Given the description of an element on the screen output the (x, y) to click on. 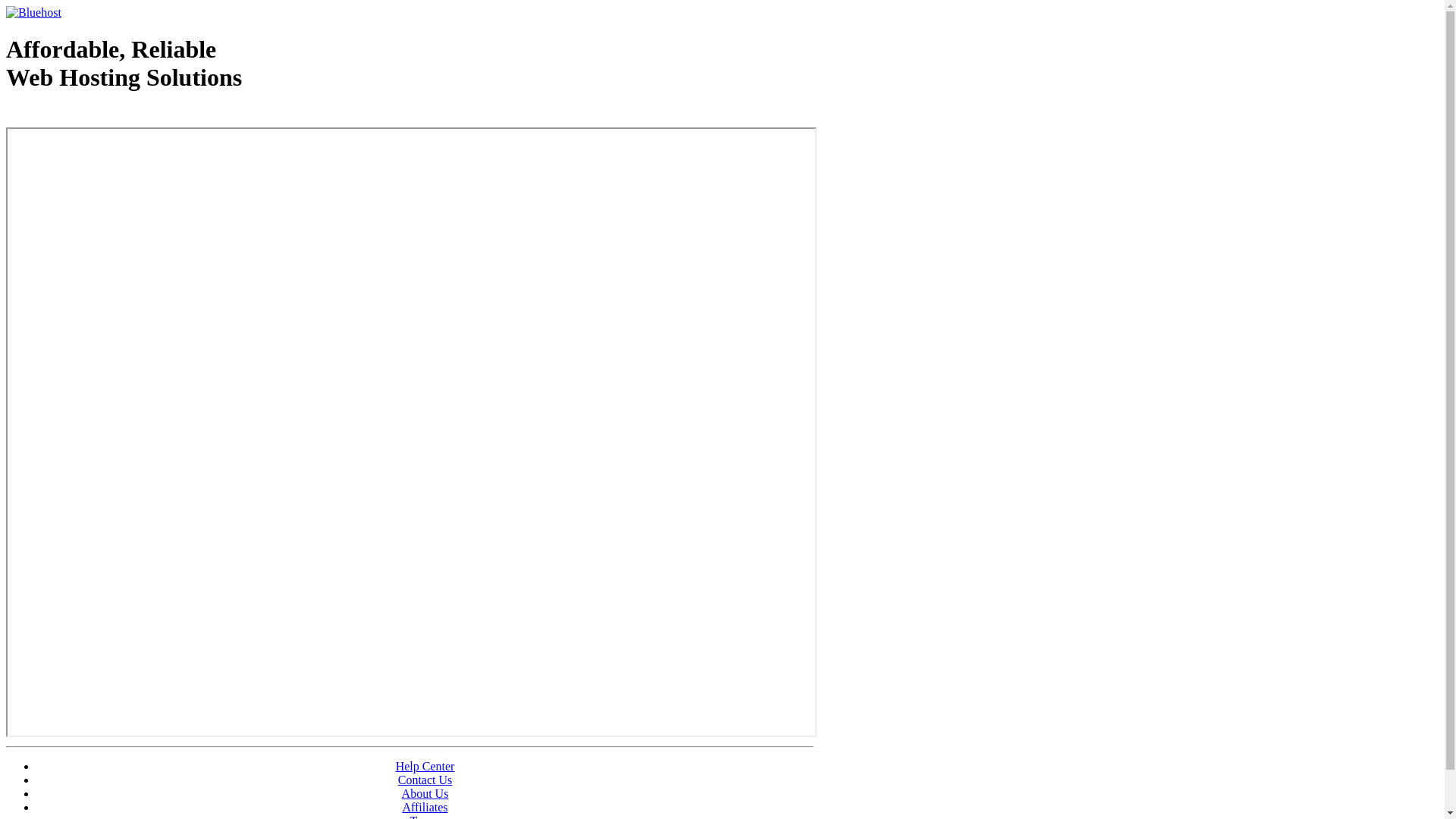
Help Center Element type: text (425, 765)
Affiliates Element type: text (424, 806)
About Us Element type: text (424, 793)
Web Hosting - courtesy of www.bluehost.com Element type: text (94, 115)
Contact Us Element type: text (425, 779)
